Given the description of an element on the screen output the (x, y) to click on. 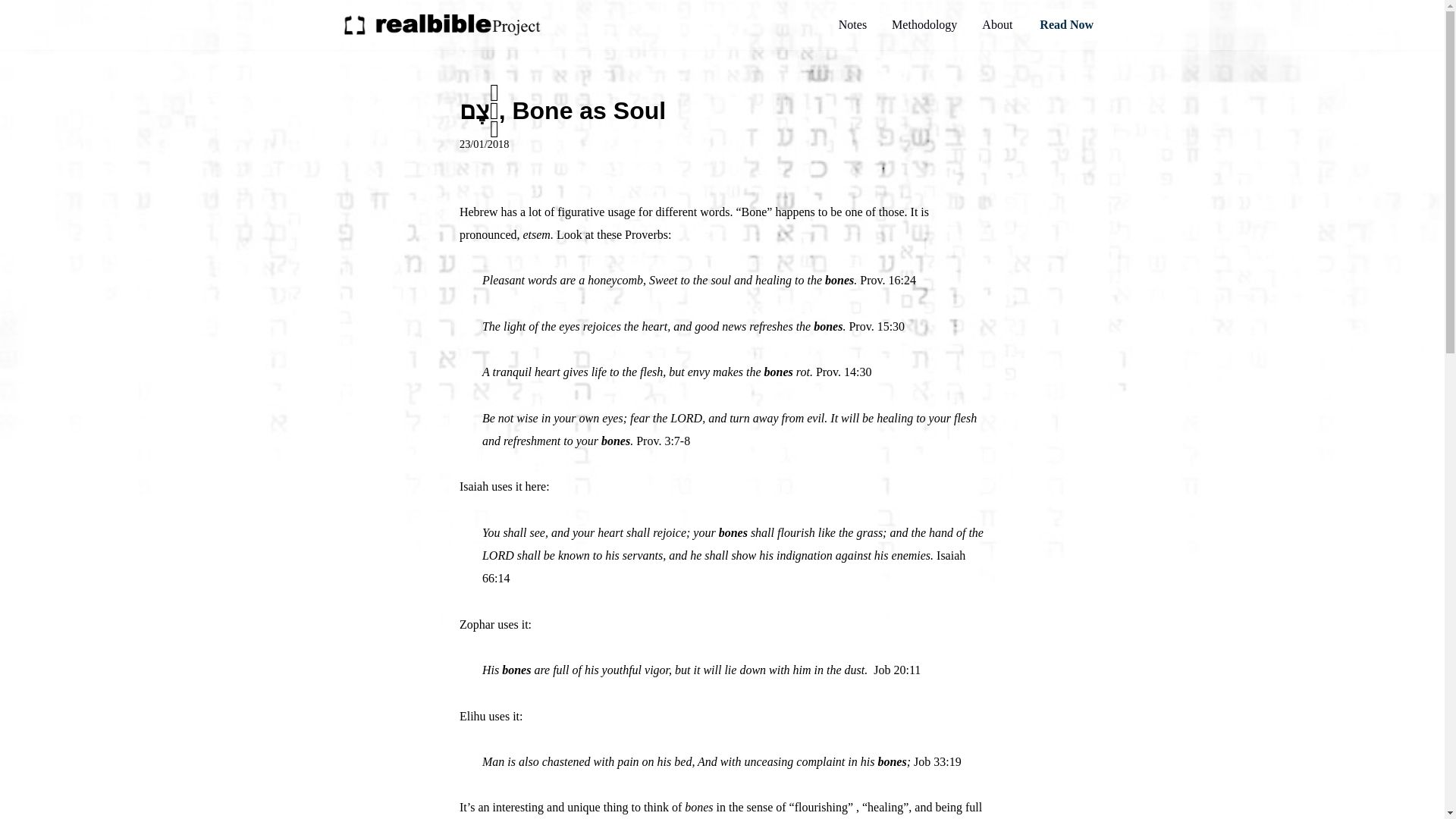
Notes (852, 24)
Read Now (1066, 24)
Skip to content (11, 31)
About (996, 24)
Methodology (923, 24)
